Given the description of an element on the screen output the (x, y) to click on. 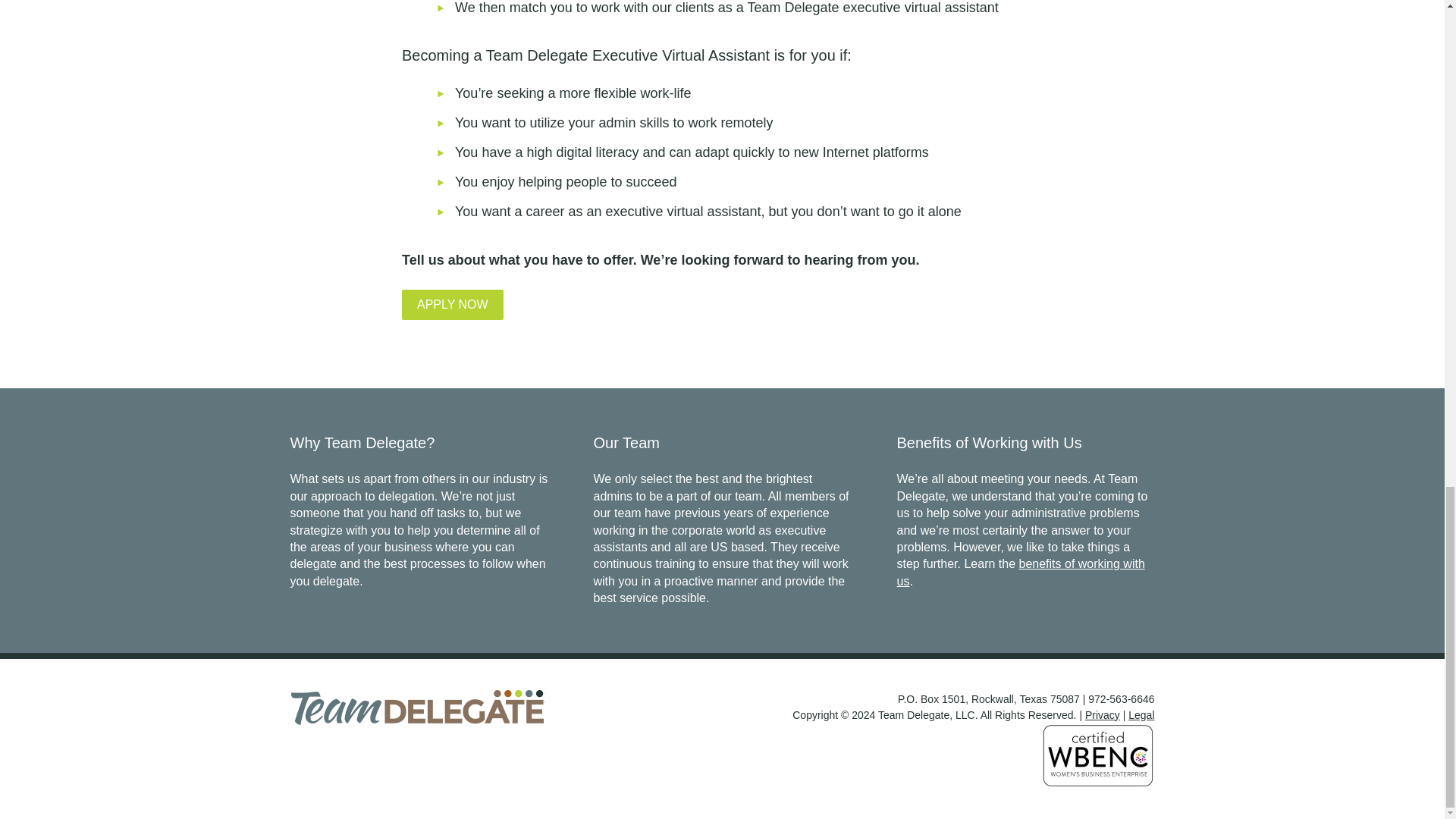
Privacy (1101, 715)
Team Delegate (416, 707)
Legal (1141, 715)
APPLY NOW (452, 304)
benefits of working with us (1020, 572)
